Given the description of an element on the screen output the (x, y) to click on. 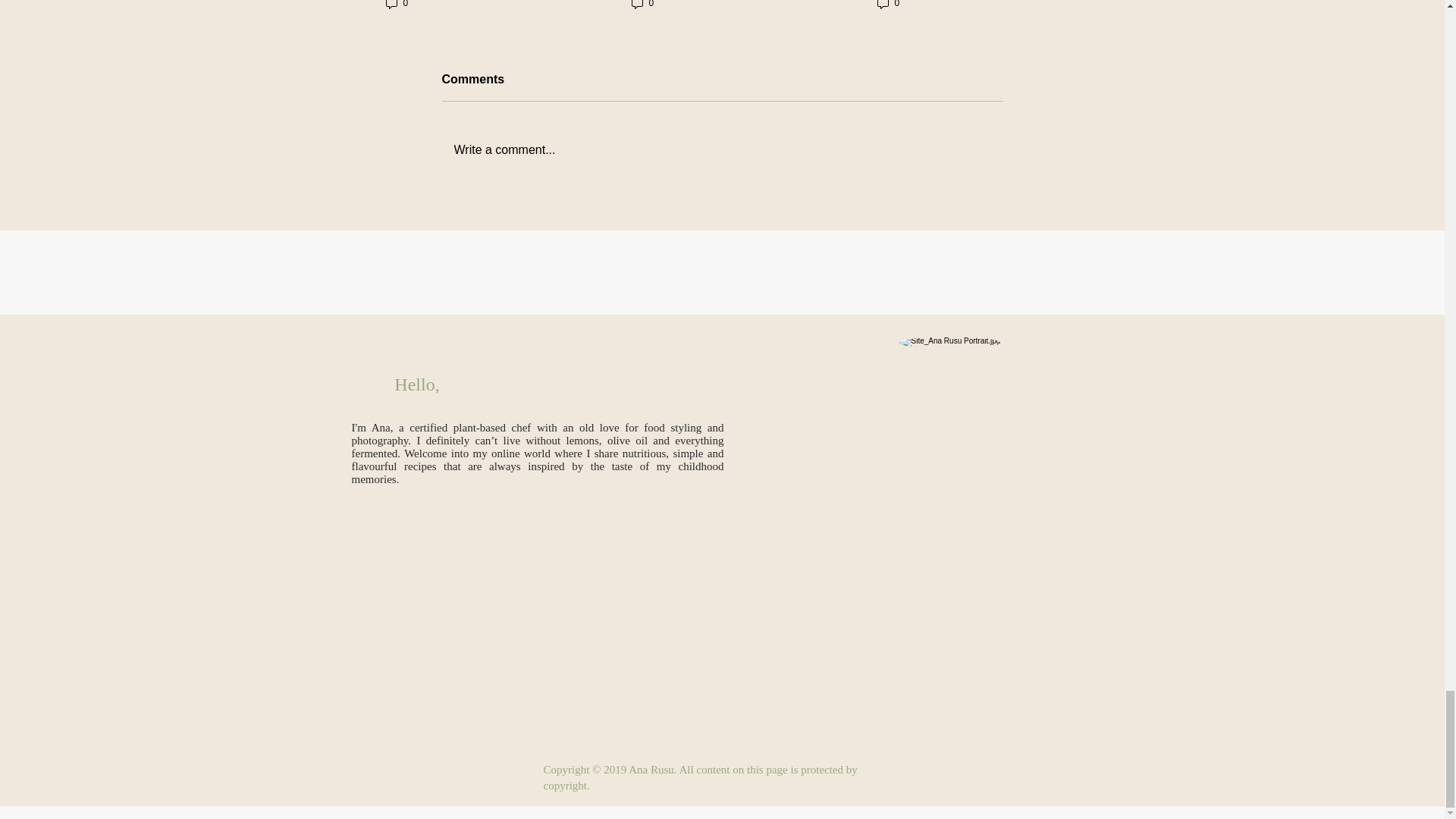
0 (641, 5)
0 (396, 5)
Hello, (417, 384)
Write a comment... (722, 149)
0 (888, 5)
